Given the description of an element on the screen output the (x, y) to click on. 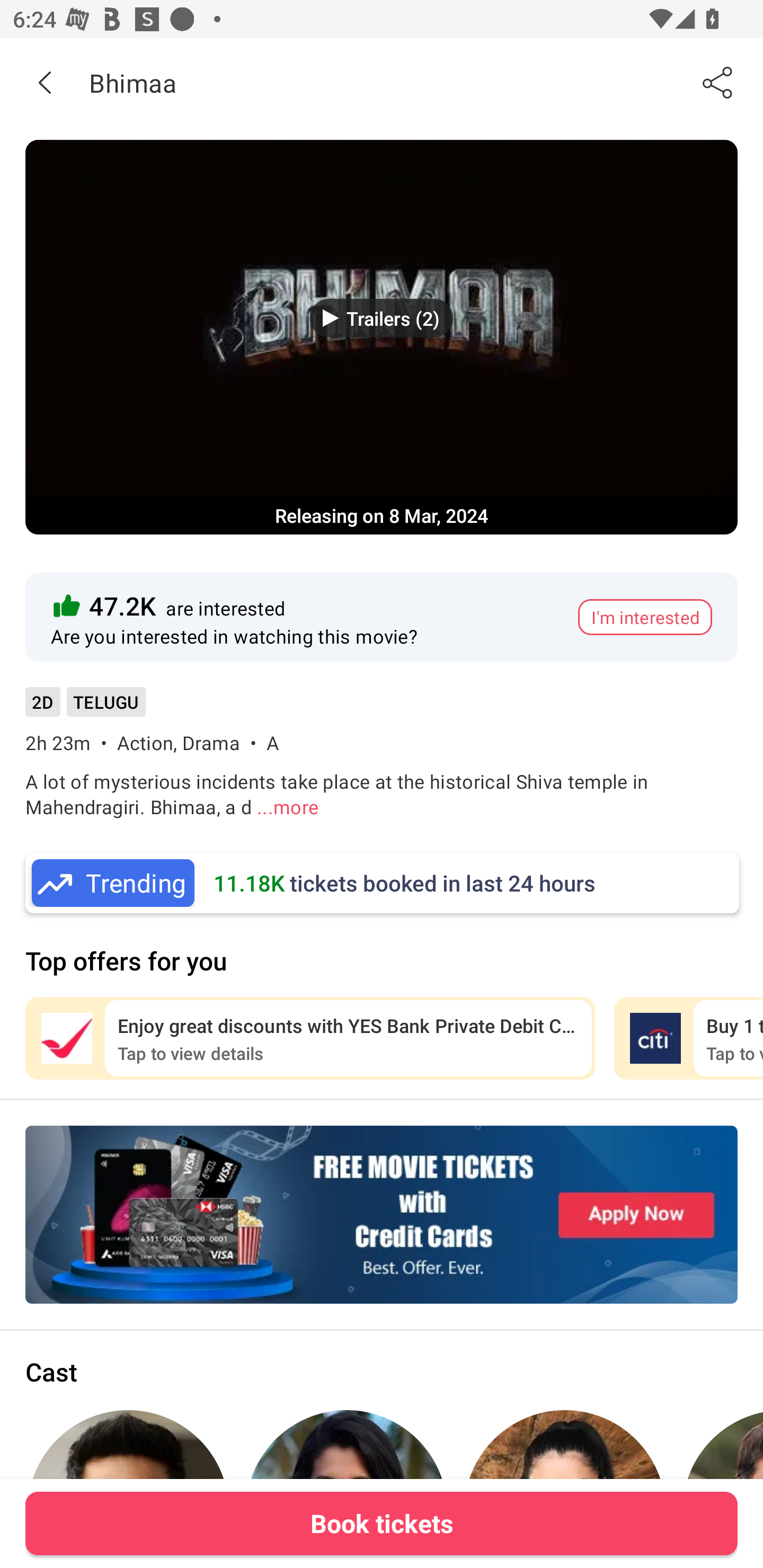
Back (44, 82)
Share (718, 82)
Movie Banner Trailers (2) Releasing on 8 Mar, 2024 (381, 336)
Trailers (2) (381, 318)
I'm interested (644, 616)
2D TELUGU (85, 707)
Book tickets (381, 1523)
